Given the description of an element on the screen output the (x, y) to click on. 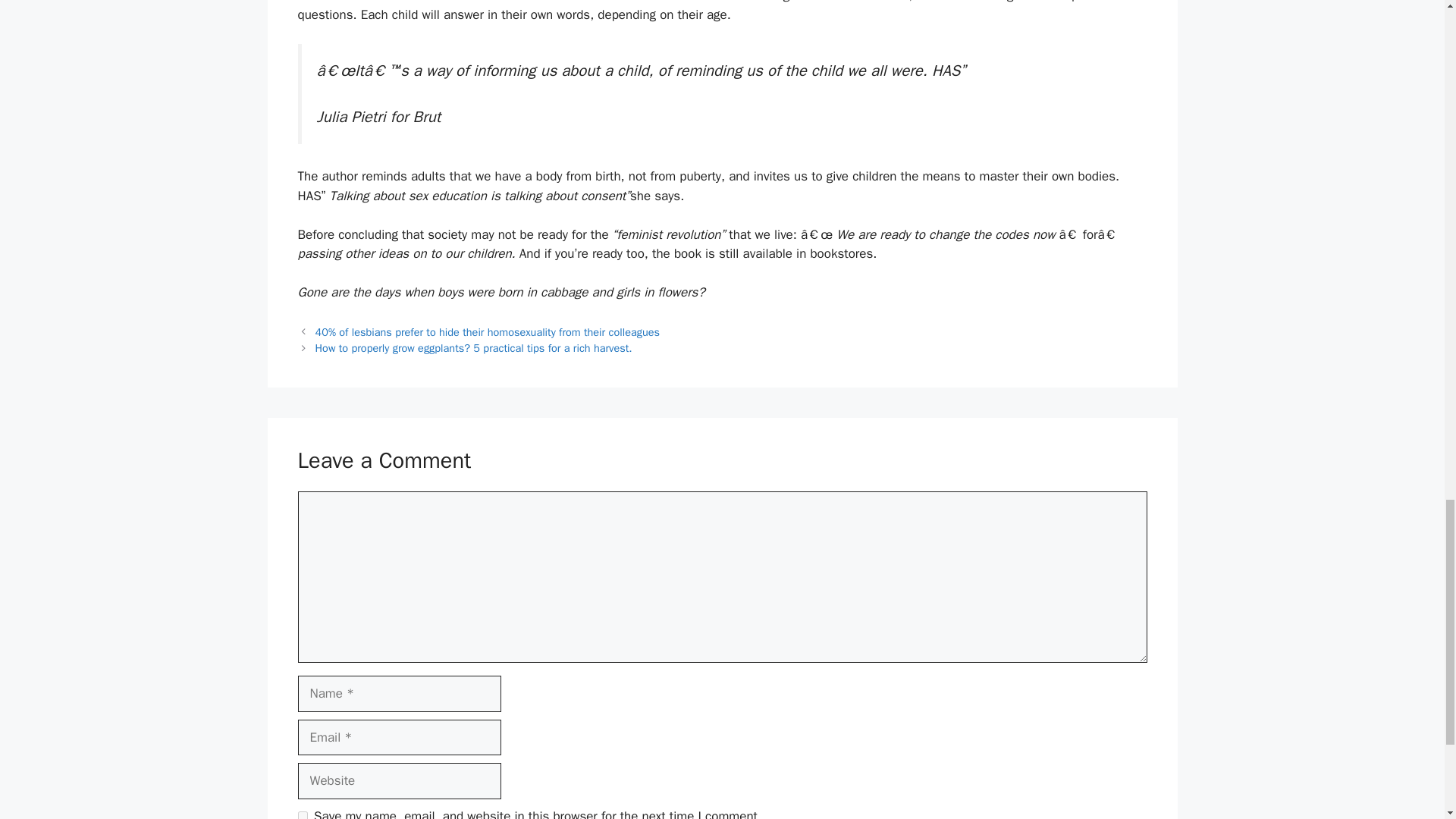
yes (302, 815)
